Given the description of an element on the screen output the (x, y) to click on. 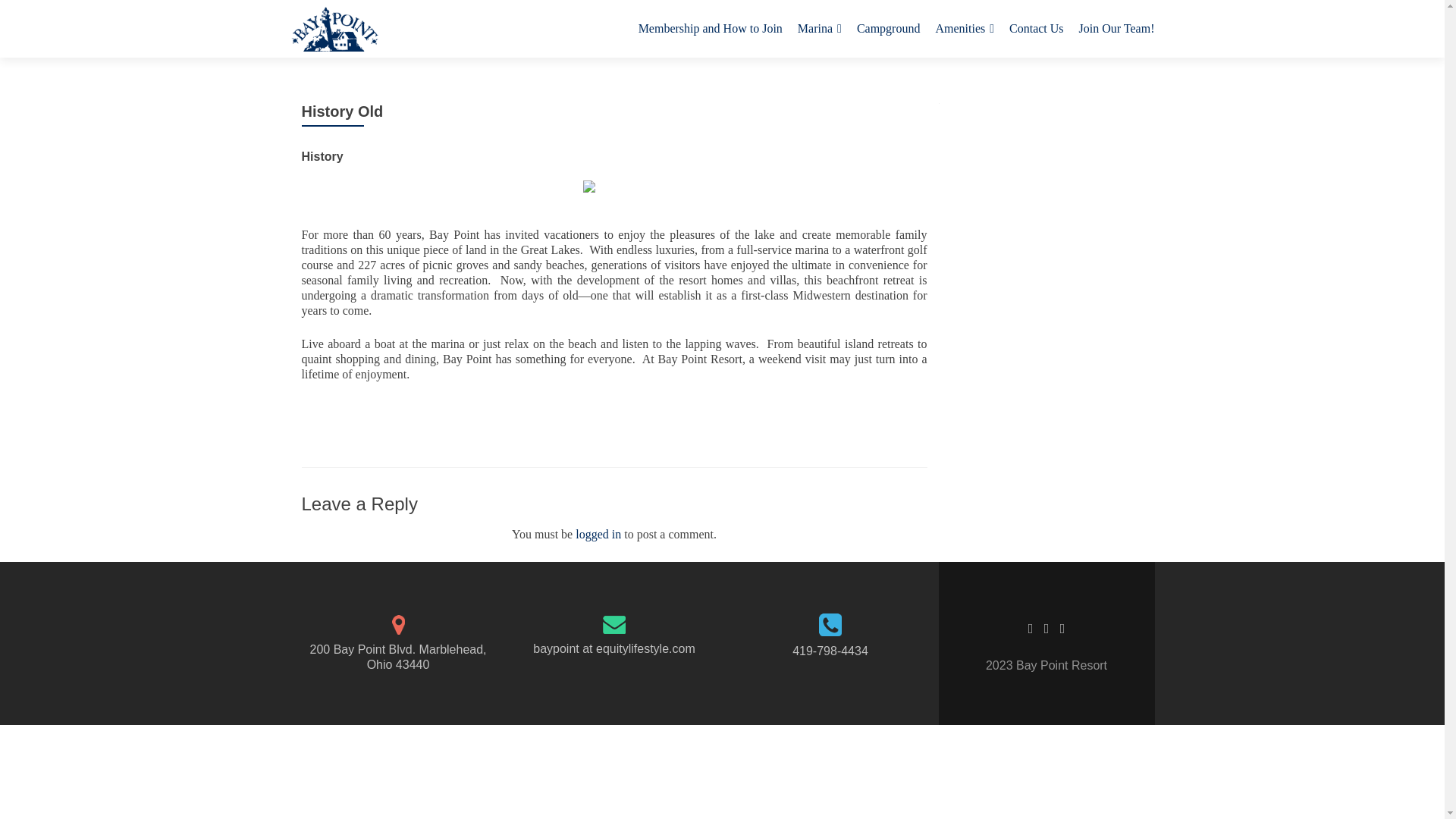
419-798-4434 (829, 650)
logged in (598, 533)
Amenities (964, 28)
Marina (819, 28)
Membership and How to Join (711, 28)
baypoint at equitylifestyle.com (613, 648)
Contact Us (1036, 28)
Campground (888, 28)
Join Our Team! (1116, 28)
